Given the description of an element on the screen output the (x, y) to click on. 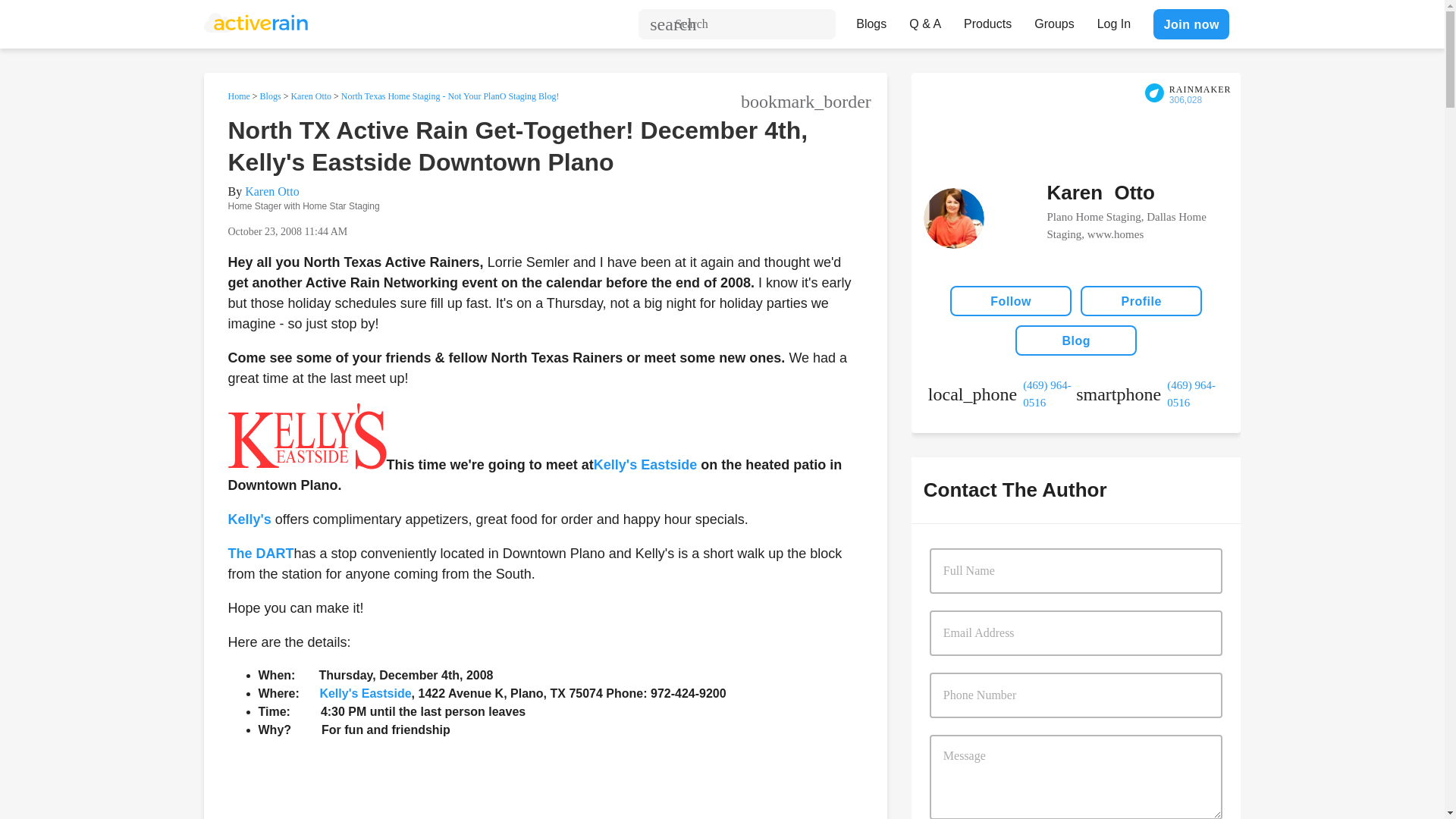
Karen Otto (310, 95)
Kelly's Eastside Downtown Plano (248, 519)
cell (1149, 393)
Products (986, 19)
North Texas Home Staging - Not Your PlanO Staging Blog! (449, 95)
Blogs (270, 95)
The DART (260, 553)
Kelly's (248, 519)
Home (237, 95)
work (1001, 393)
